Given the description of an element on the screen output the (x, y) to click on. 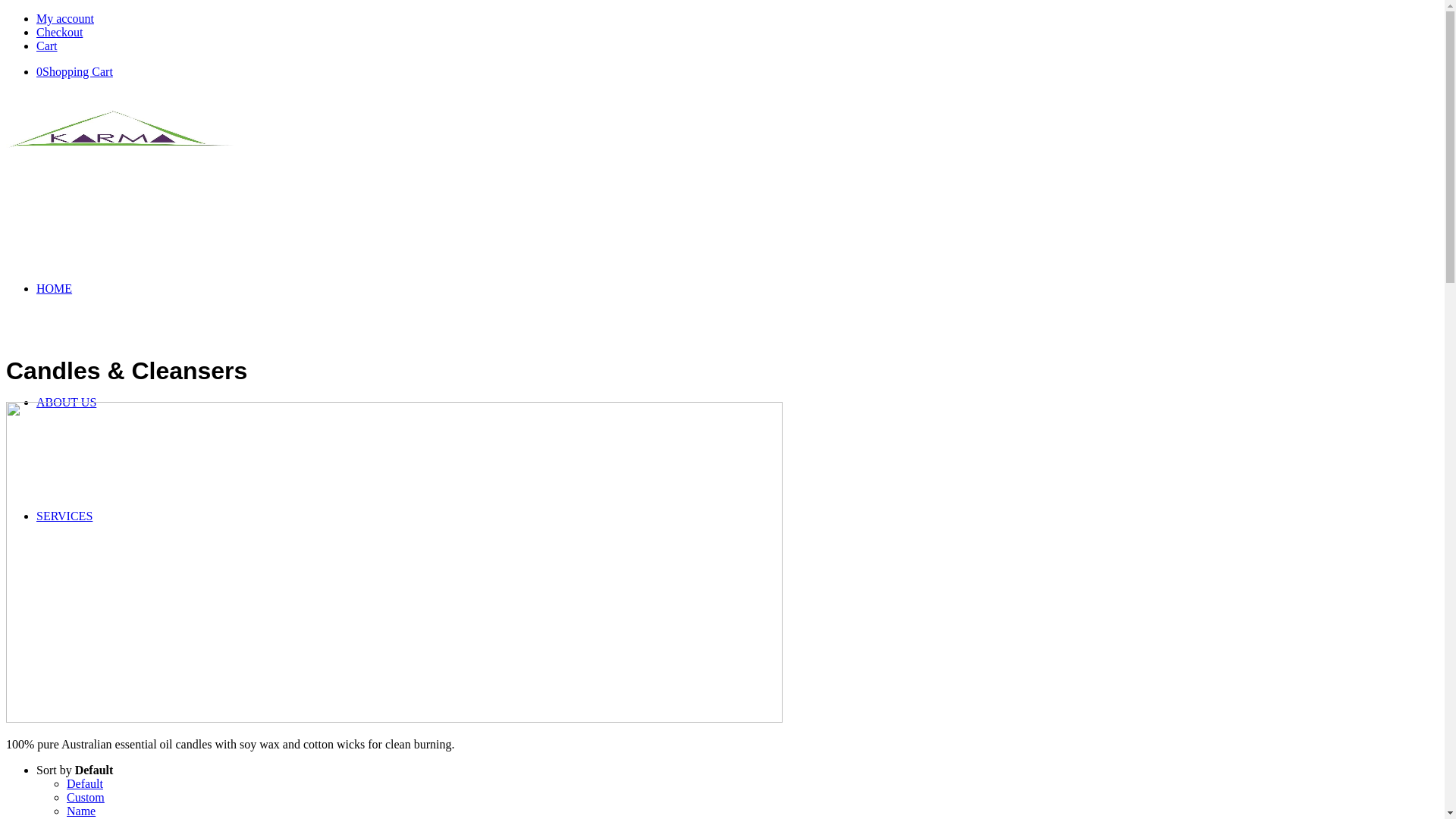
HOME Element type: text (54, 288)
Custom Element type: text (85, 796)
Name Element type: text (80, 810)
Cart Element type: text (46, 45)
0Shopping Cart Element type: text (74, 71)
My account Element type: text (65, 18)
Checkout Element type: text (59, 31)
ABOUT US Element type: text (66, 401)
SERVICES Element type: text (64, 515)
Default Element type: text (84, 783)
